Given the description of an element on the screen output the (x, y) to click on. 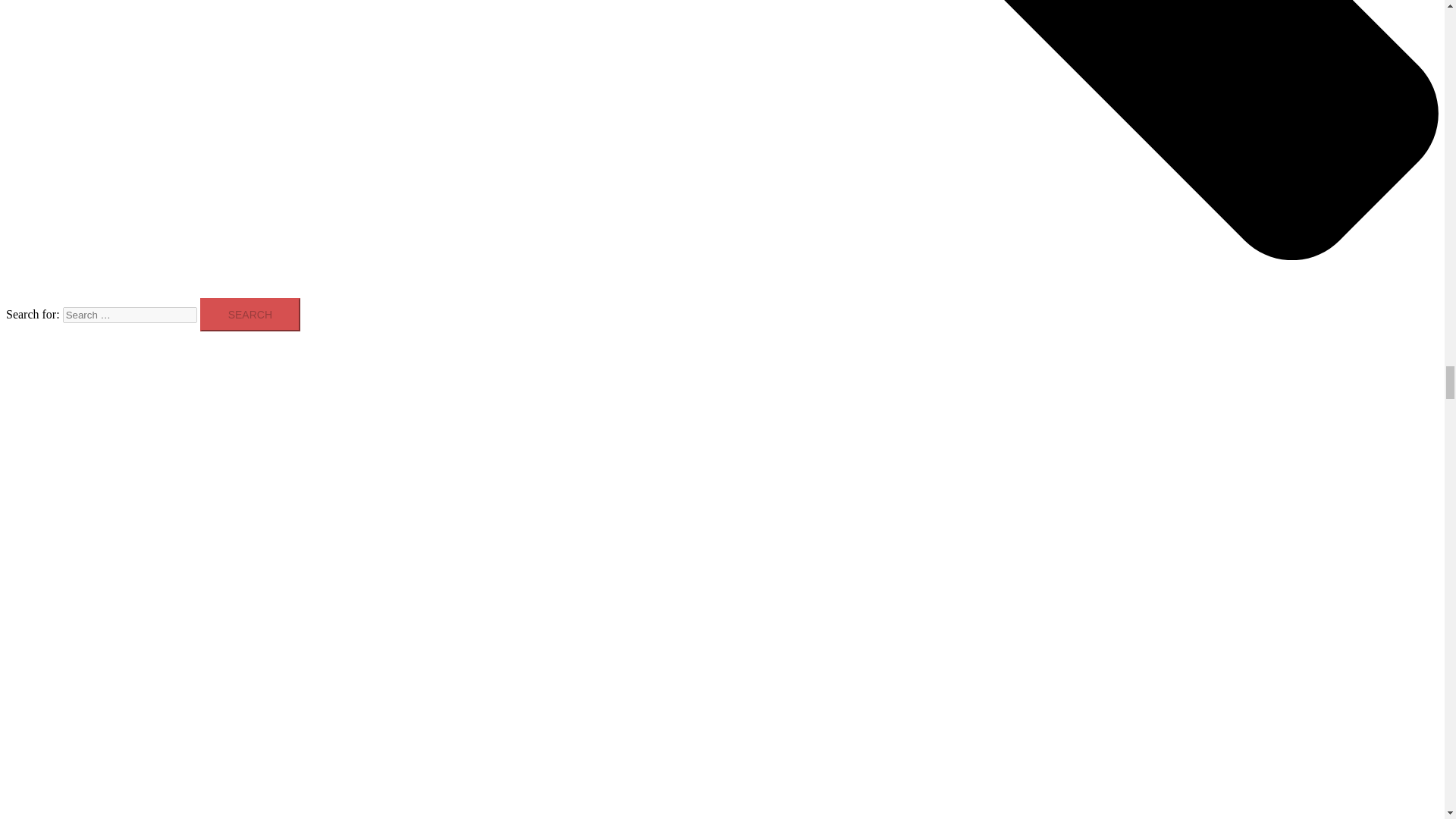
Search (249, 314)
Search (249, 314)
flirtybor.com (69, 370)
Search (249, 314)
Close menu (40, 451)
Company (62, 485)
